Given the description of an element on the screen output the (x, y) to click on. 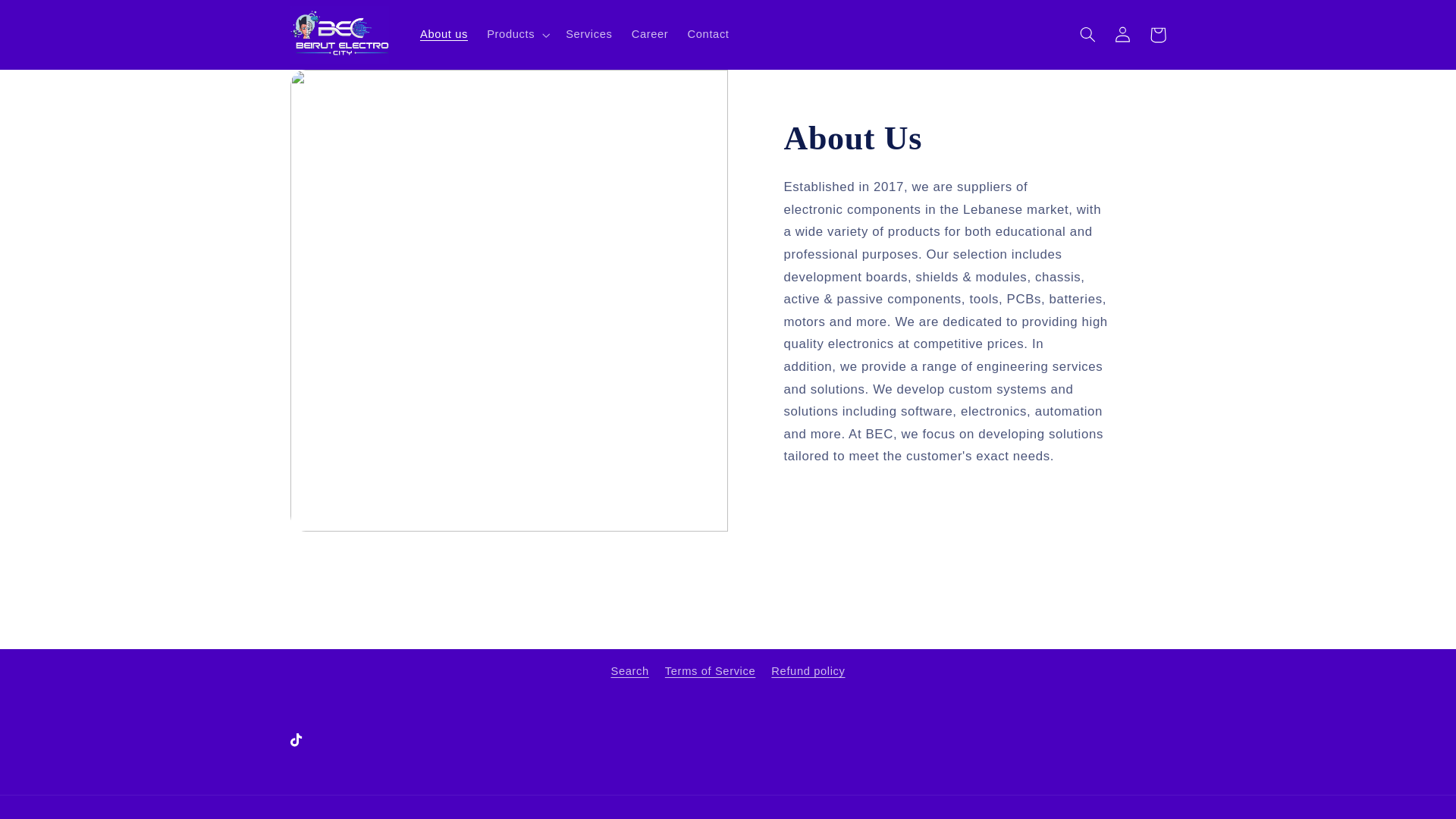
Skip to content (48, 18)
